Given the description of an element on the screen output the (x, y) to click on. 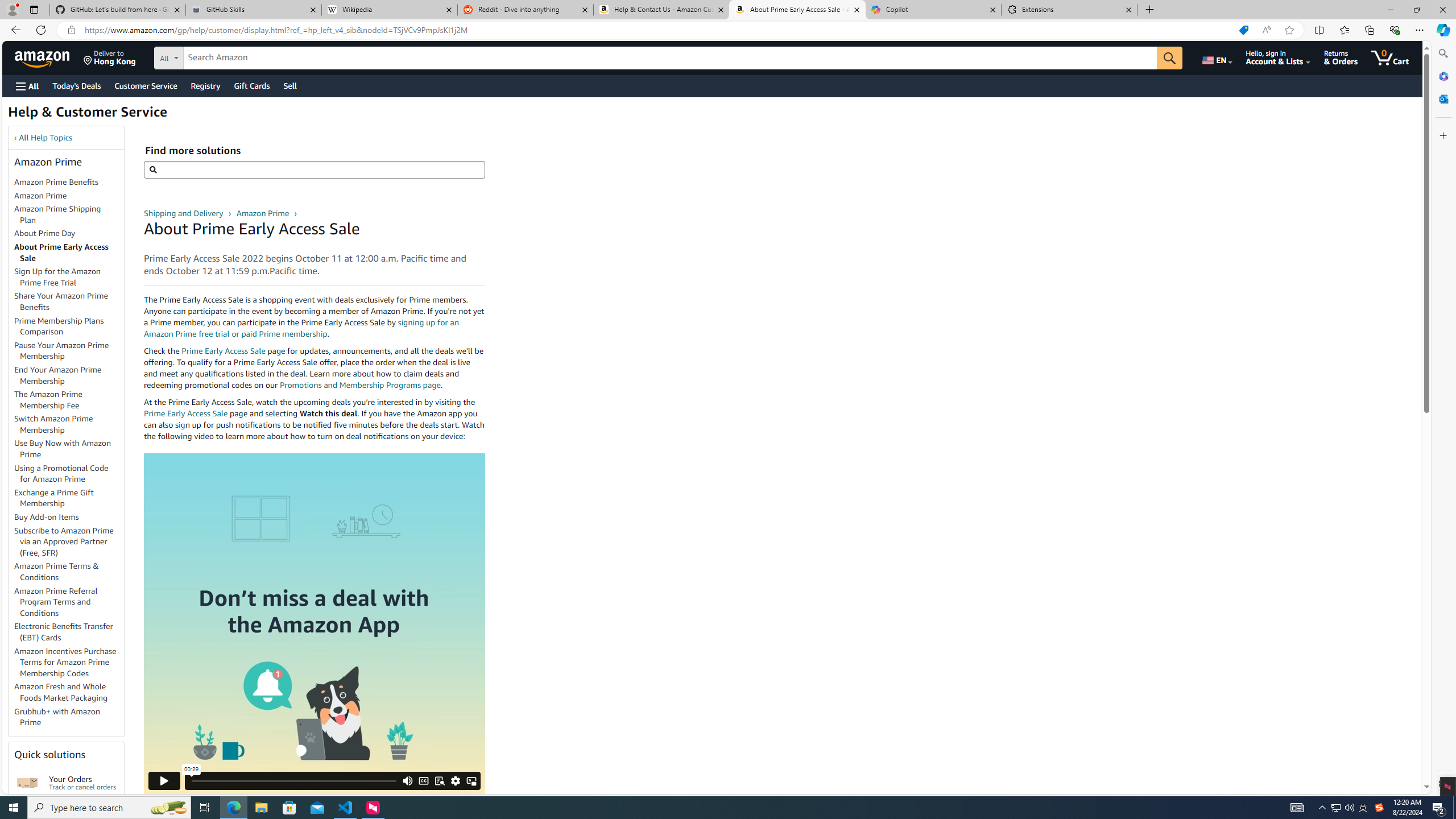
About Prime Early Access Sale (68, 252)
CC/Subtitles (423, 780)
Sign Up for the Amazon Prime Free Trial (57, 276)
Amazon Prime Benefits (68, 182)
Shipping and Delivery  (184, 213)
Promotions and Membership Programs page (360, 384)
Switch Amazon Prime Membership (68, 424)
Amazon Prime Referral Program Terms and Conditions (55, 601)
